Given the description of an element on the screen output the (x, y) to click on. 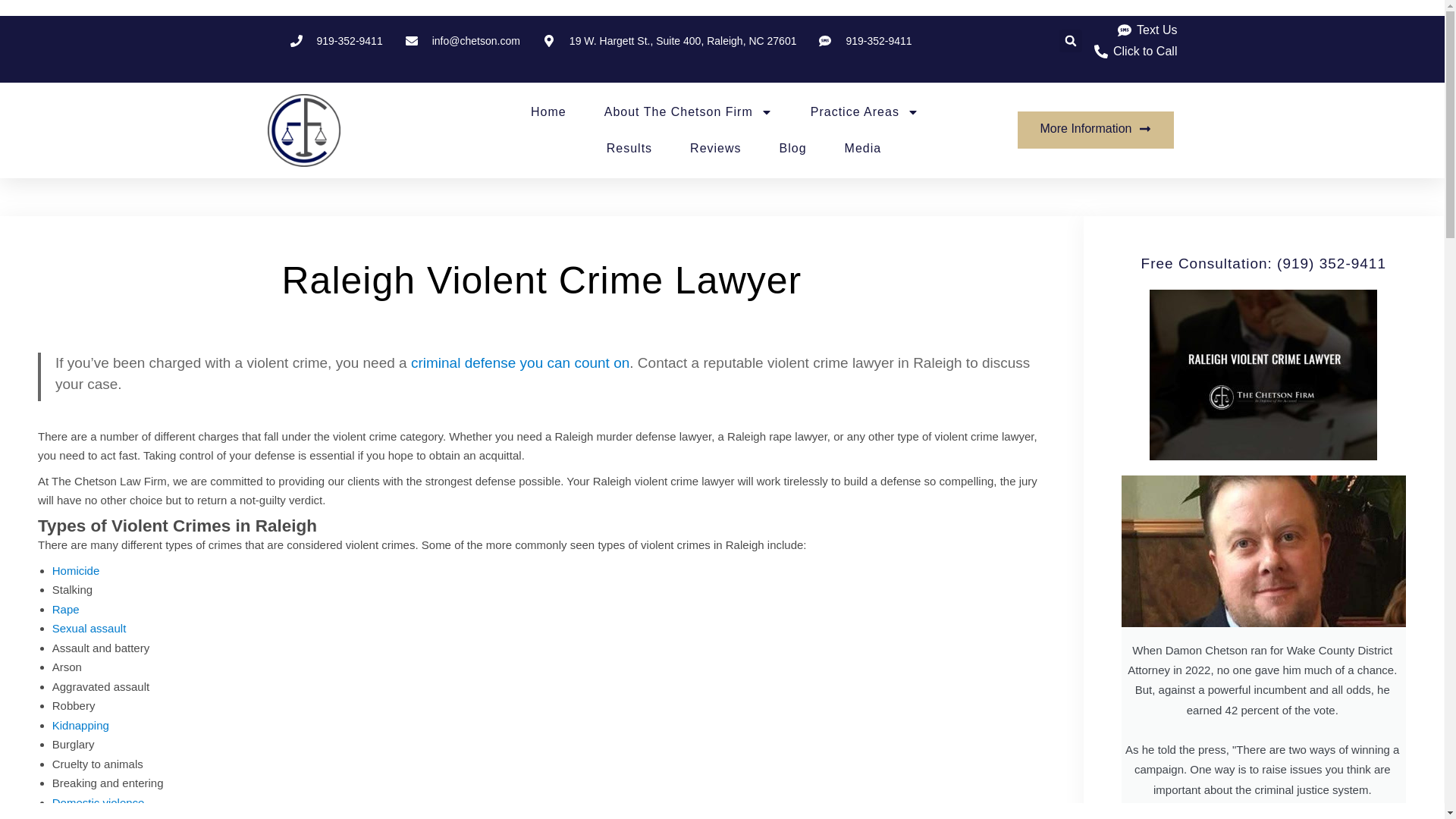
Click to Call (1134, 51)
Practice Areas (864, 112)
Text Us (1146, 29)
About The Chetson Firm (688, 112)
Results (629, 148)
Reviews (715, 148)
Home (548, 112)
Media (863, 148)
